Given the description of an element on the screen output the (x, y) to click on. 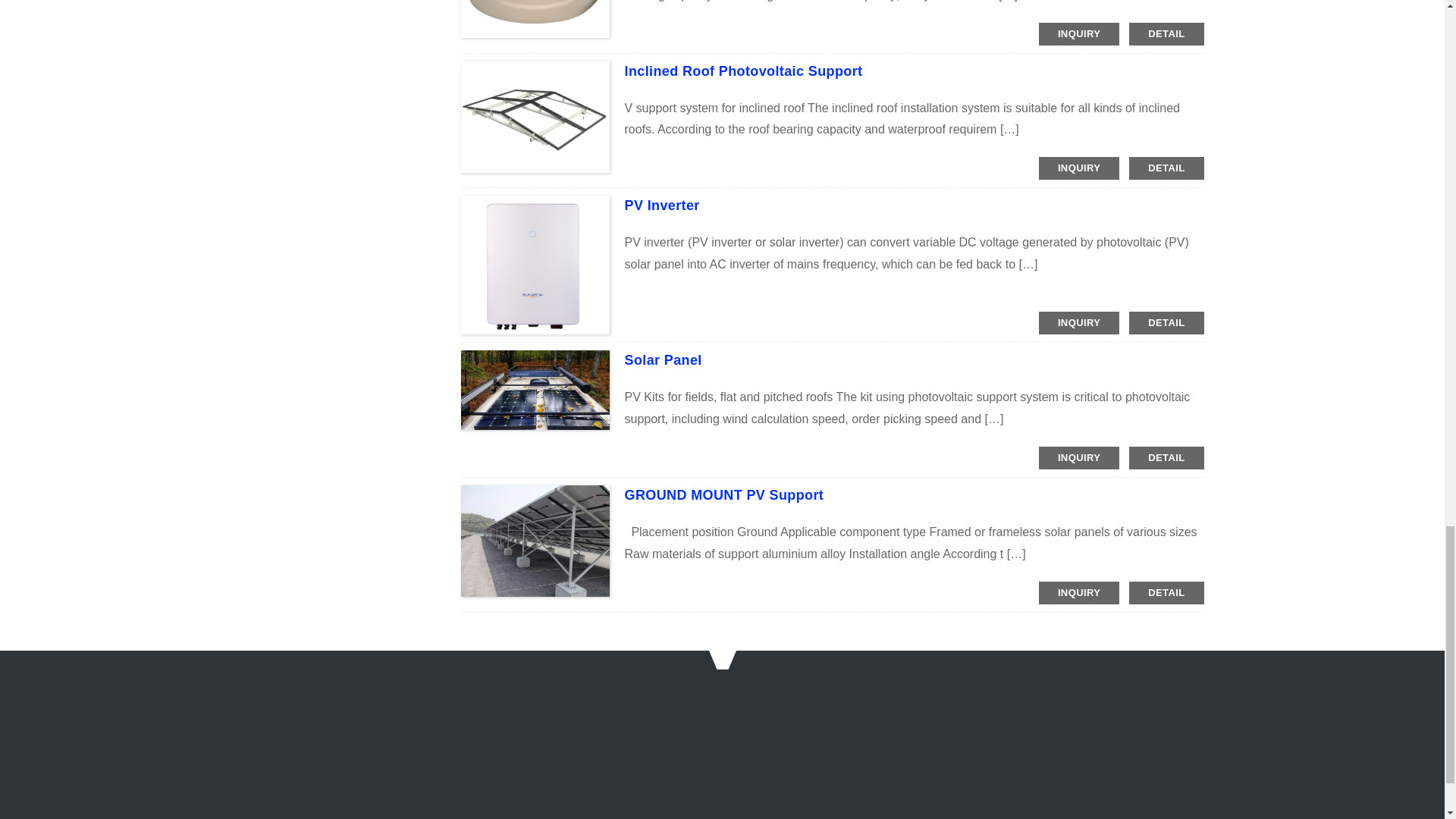
INQUIRY (1079, 33)
DETAIL (1166, 33)
